Given the description of an element on the screen output the (x, y) to click on. 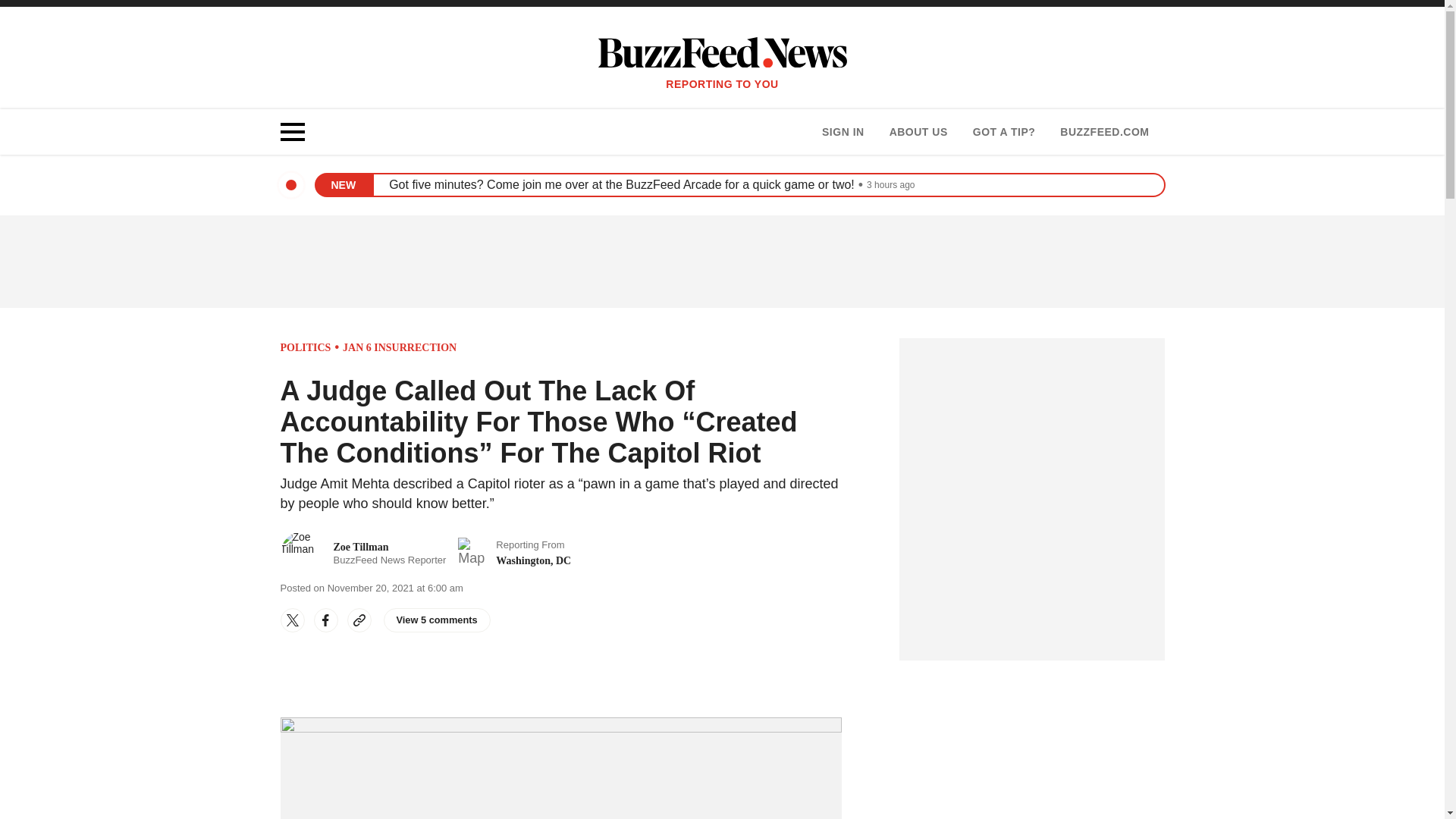
ABOUT US (917, 131)
BUZZFEED.COM (363, 553)
POLITICS (1103, 131)
SIGN IN (306, 347)
View 5 comments (842, 131)
JAN 6 INSURRECTION (437, 620)
GOT A TIP? (399, 347)
